Given the description of an element on the screen output the (x, y) to click on. 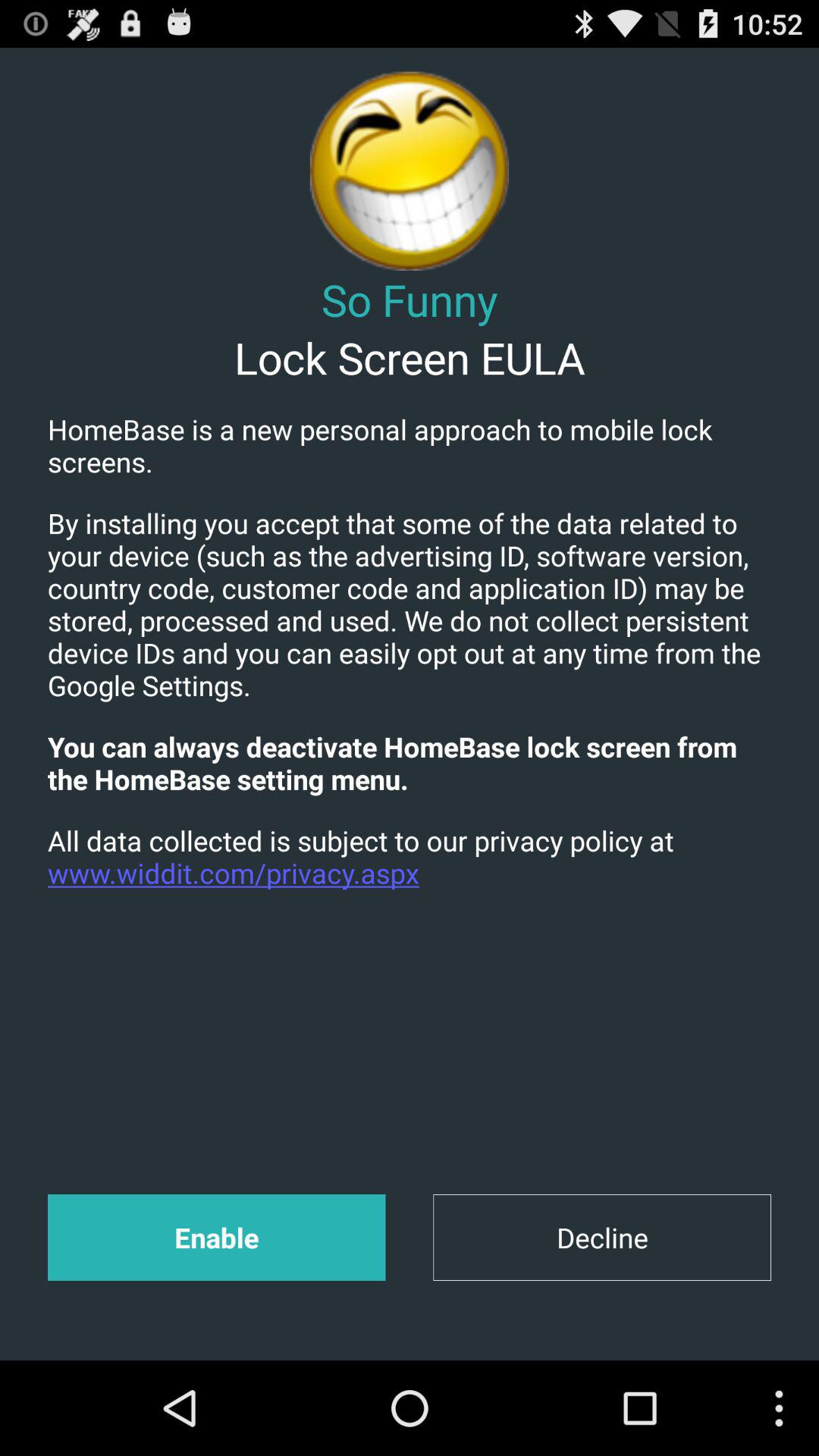
scroll until the by installing you (409, 604)
